Given the description of an element on the screen output the (x, y) to click on. 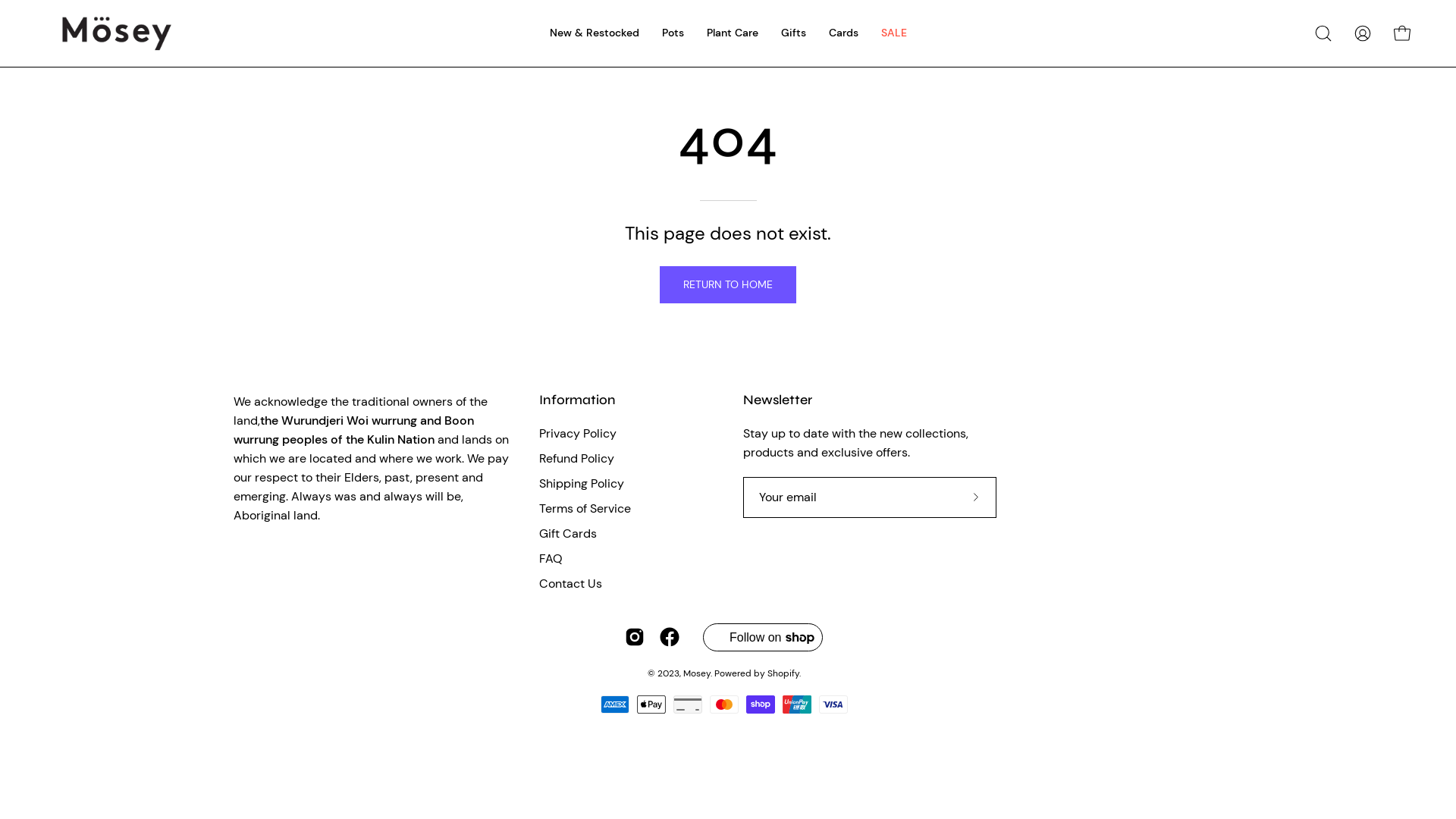
Pots Element type: text (672, 33)
Shopify Element type: text (783, 673)
New & Restocked Element type: text (594, 33)
Gift Cards Element type: text (567, 533)
Plant Care Element type: text (731, 33)
Contact Us Element type: text (570, 583)
Open cart Element type: text (1402, 33)
Shipping Policy Element type: text (581, 483)
Information Element type: text (577, 400)
View Mosey on Instagram Element type: hover (634, 636)
RETURN TO HOME Element type: text (727, 283)
Subscribe to Our Newsletter Element type: text (975, 496)
Refund Policy Element type: text (576, 458)
Mosey Element type: text (696, 673)
My Account Element type: text (1362, 33)
FAQ Element type: text (550, 558)
Gifts Element type: text (792, 33)
SALE Element type: text (893, 33)
Cards Element type: text (843, 33)
Privacy Policy Element type: text (577, 433)
View Mosey on Facebook Element type: hover (669, 636)
Terms of Service Element type: text (584, 508)
